Given the description of an element on the screen output the (x, y) to click on. 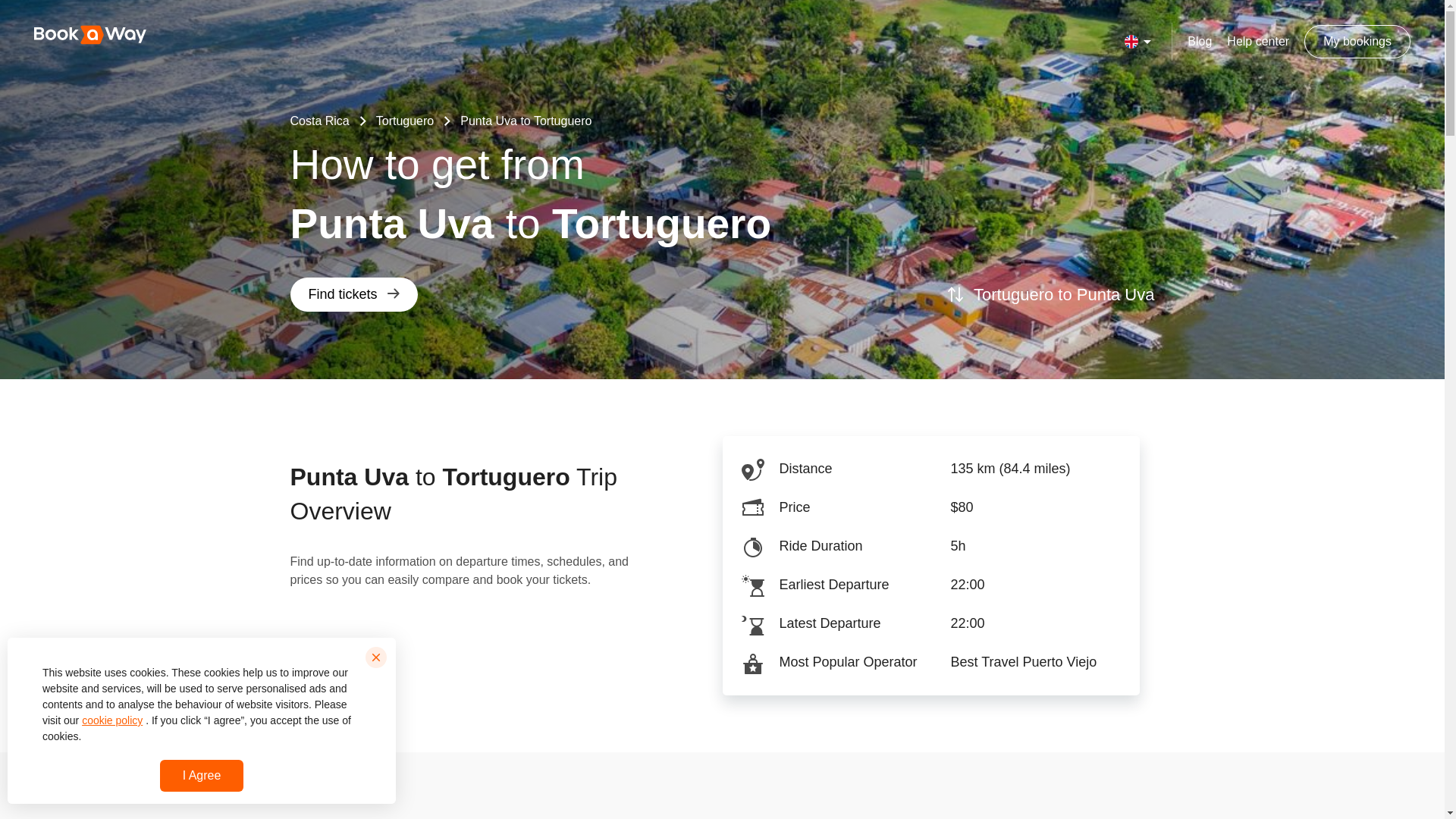
Blog (1199, 41)
Punta Uva to Tortuguero (525, 120)
Find tickets (352, 294)
My bookings (1357, 41)
Tortuguero (404, 120)
Help center (1257, 41)
Costa Rica (319, 120)
Best Travel Puerto Viejo (1044, 662)
Tortuguero to Punta Uva (1050, 294)
